Given the description of an element on the screen output the (x, y) to click on. 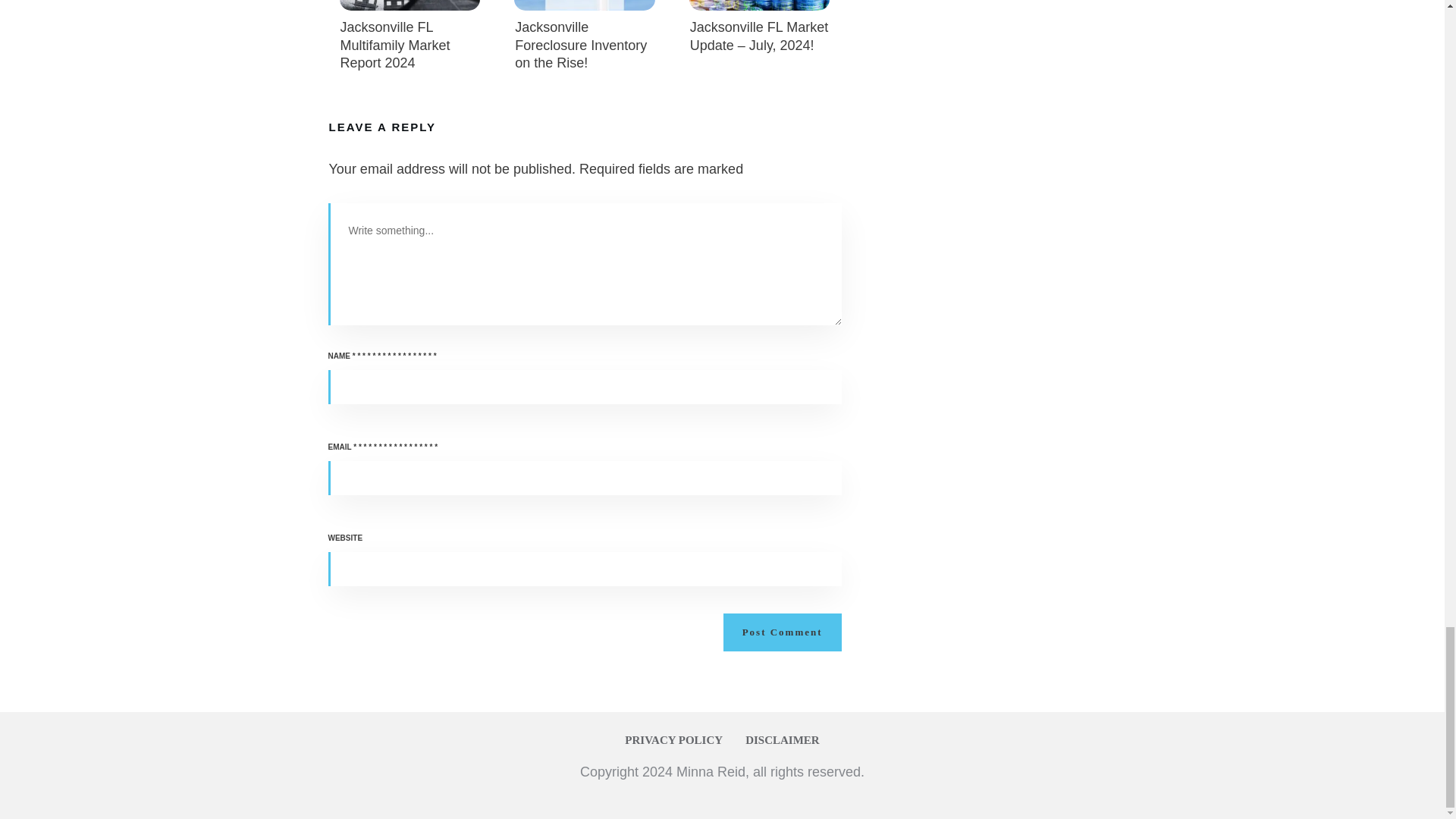
Jacksonville FL Multifamily Market Report 2024 (409, 42)
Jacksonville Foreclosure Inventory on the Rise! (584, 42)
Jacksonville Foreclosure Inventory on the Rise! (580, 44)
Jacksonville Foreclosure Inventory on the Rise! (580, 44)
Jacksonville FL Multifamily Market Report 2024 (394, 44)
Jacksonville FL Multifamily Market Report 2024 (394, 44)
Post Comment (782, 632)
